Given the description of an element on the screen output the (x, y) to click on. 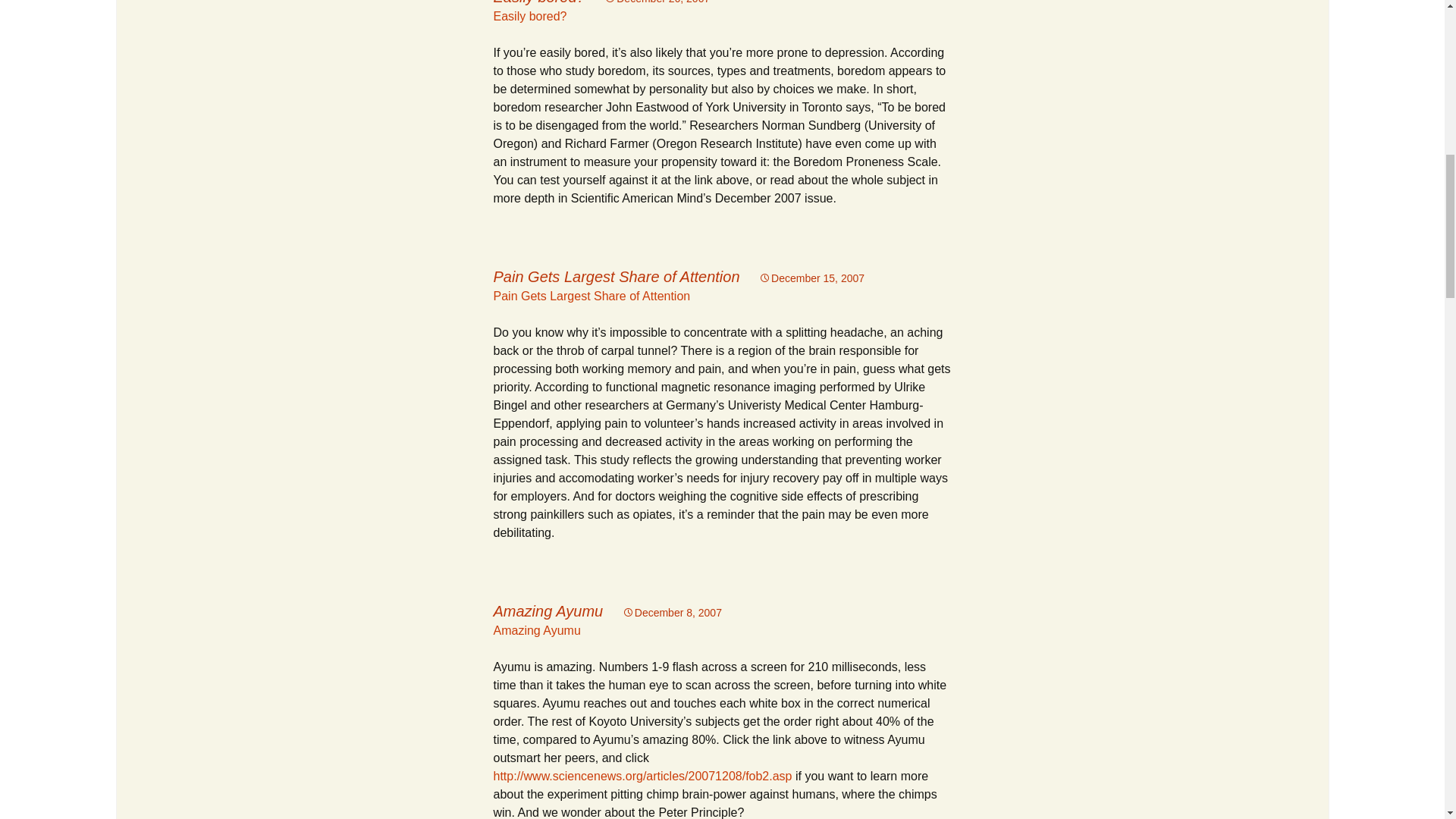
Amazing Ayumu (547, 610)
Pain Gets Largest Share of Attention (591, 295)
Easily bored? (529, 15)
Permalink to Easily bored? (657, 2)
Permalink to Pain Gets Largest Share of Attention (811, 277)
December 26, 2007 (657, 2)
December 8, 2007 (672, 612)
December 15, 2007 (811, 277)
Pain Gets Largest Share of Attention (616, 276)
Amazing Ayumu (536, 630)
